Given the description of an element on the screen output the (x, y) to click on. 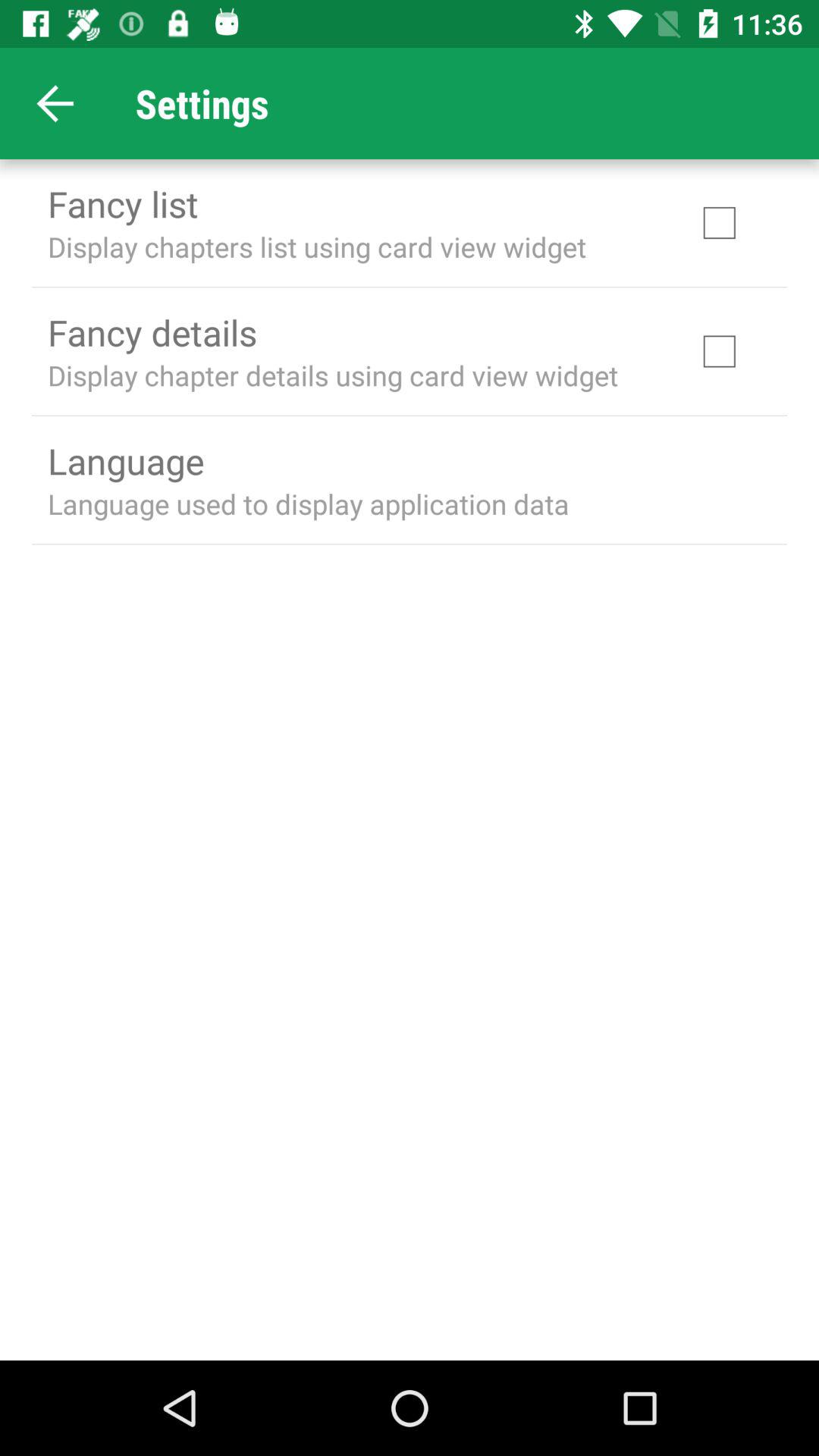
come back (55, 103)
